Given the description of an element on the screen output the (x, y) to click on. 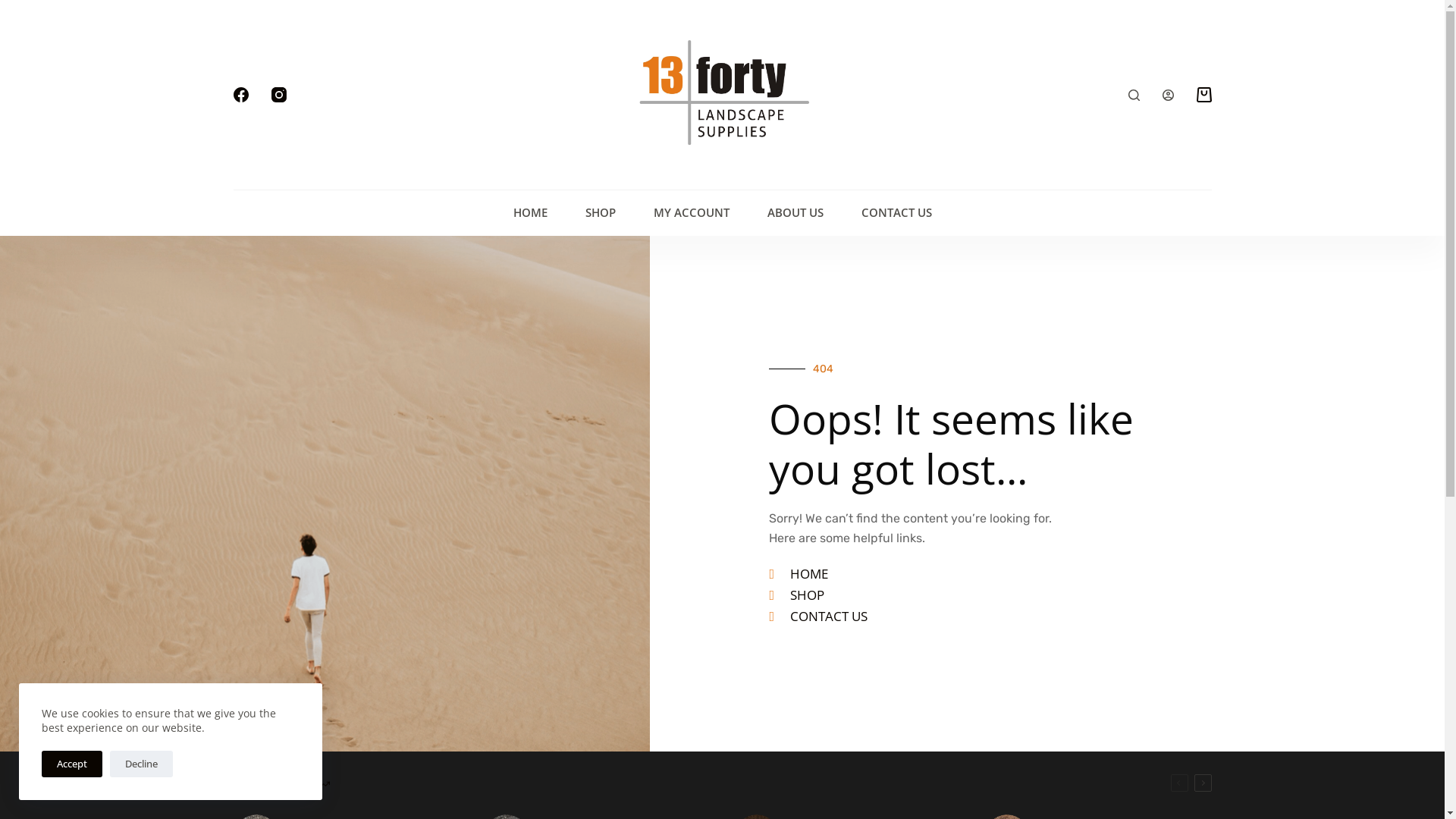
SHOP Element type: text (928, 392)
OUR AMAZING TEAM Element type: text (1084, 392)
HOME Element type: text (530, 212)
Aggregates Element type: text (519, 515)
Accept Element type: text (71, 763)
Mulches Element type: text (511, 558)
Geotextiles Element type: text (520, 621)
HOME Element type: text (986, 573)
CONTACT US Element type: text (989, 392)
MY ACCOUNT Element type: text (690, 212)
shop@13forty.com Element type: text (1094, 647)
MY ACCOUNT Element type: text (1180, 392)
SHOP Element type: text (986, 594)
Professional Supplies Element type: text (548, 600)
Decline Element type: text (140, 763)
CONTACT US Element type: text (895, 212)
SHOP Element type: text (599, 212)
CONTACT US Element type: text (986, 616)
ABOUT US Element type: text (794, 212)
519 599 1340 Element type: text (1081, 594)
Turf Supplies Element type: text (524, 643)
forwardwebb Element type: text (1175, 773)
Natural Stone Element type: text (526, 579)
My Account Element type: text (775, 515)
Skip to content Element type: text (15, 7)
Organic Soils and Compost Element type: text (564, 537)
